Given the description of an element on the screen output the (x, y) to click on. 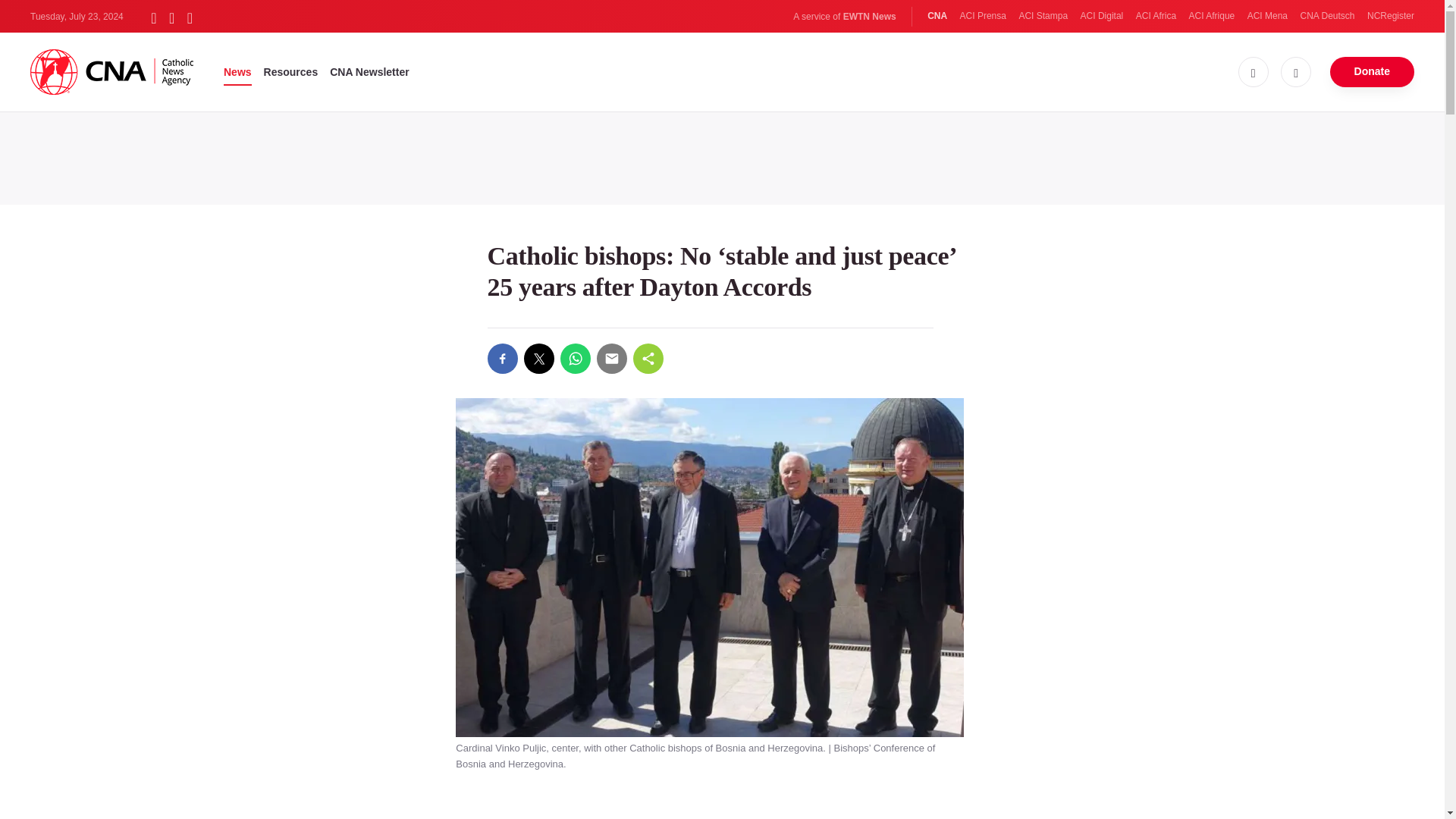
News (237, 71)
NCRegister (1390, 16)
ACI Prensa (982, 16)
ACI Africa (1155, 16)
ACI Mena (1267, 16)
Resources (290, 71)
ACI Stampa (1042, 16)
CNA Deutsch (1327, 16)
ACI Afrique (1211, 16)
CNA (937, 16)
ACI Digital (1102, 16)
EWTN News (869, 16)
EWTN News (869, 16)
3rd party ad content (721, 155)
